Given the description of an element on the screen output the (x, y) to click on. 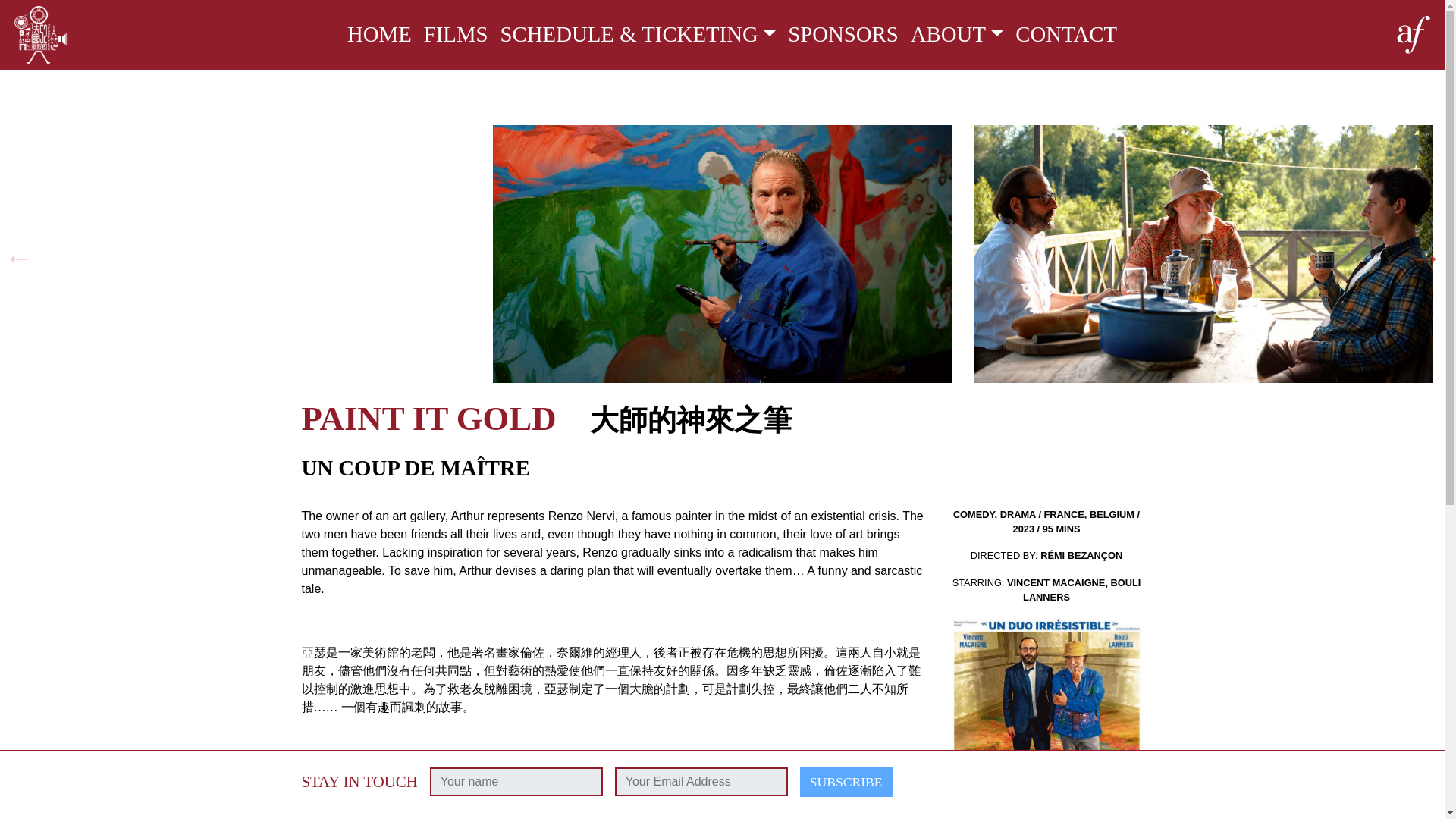
CONTACT (1065, 34)
SPONSORS (842, 34)
Next (1426, 256)
HOME (378, 34)
FILMS (456, 34)
ABOUT (957, 34)
Previous (18, 256)
